Given the description of an element on the screen output the (x, y) to click on. 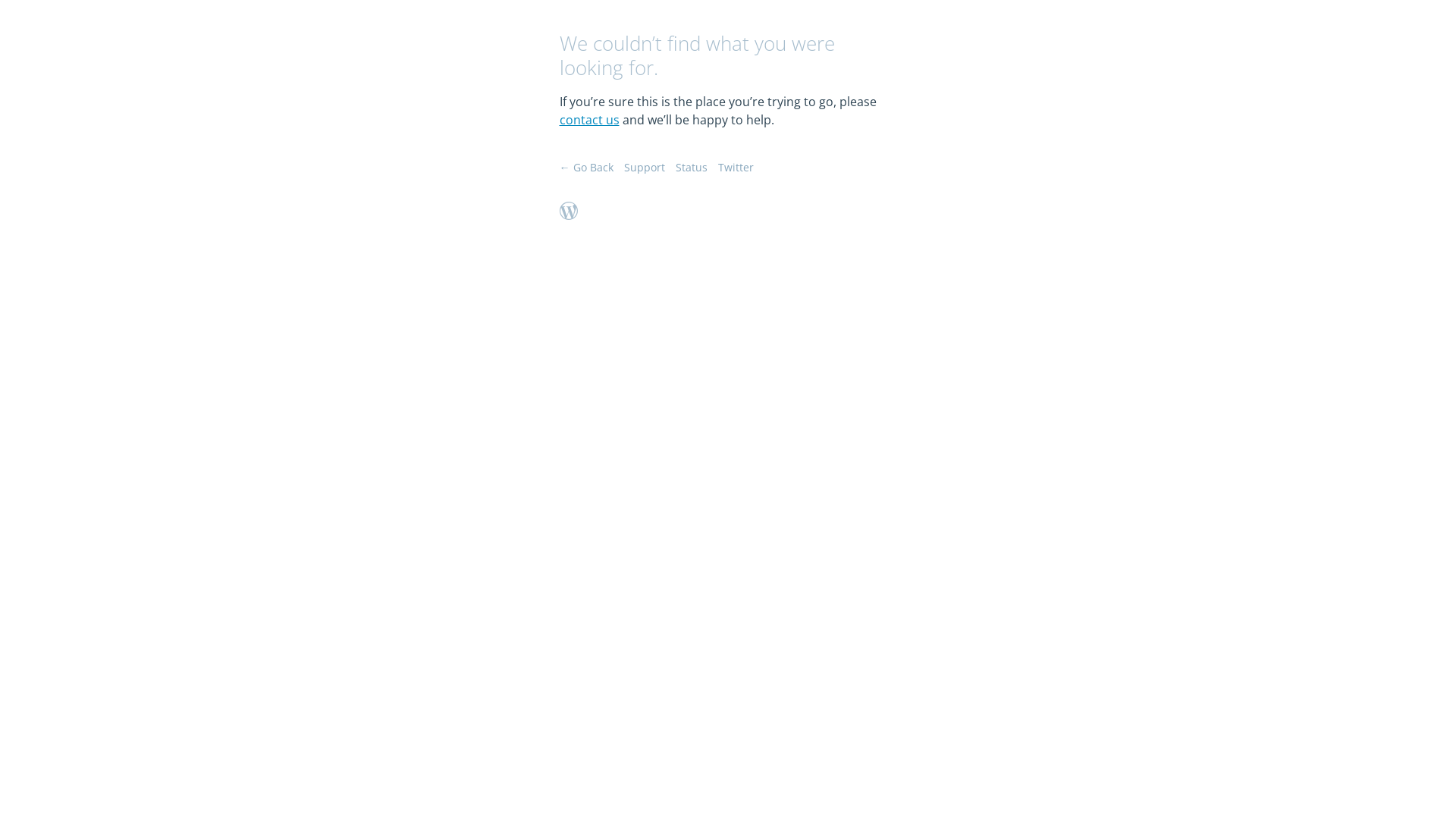
Status Element type: text (690, 167)
contact us Element type: text (589, 119)
Support Element type: text (643, 167)
Twitter Element type: text (735, 167)
